Given the description of an element on the screen output the (x, y) to click on. 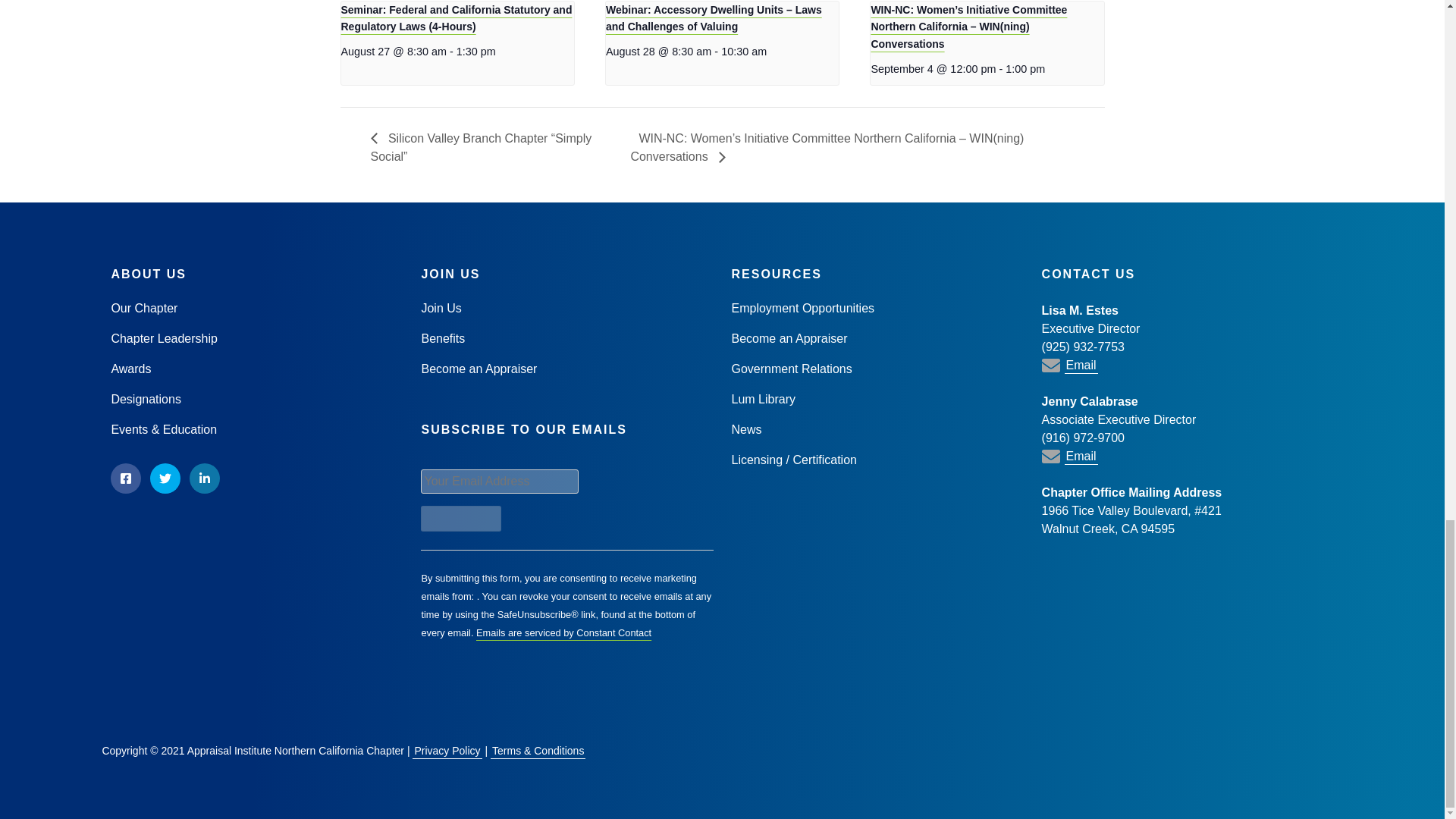
Norcal-AI Facebook (125, 478)
Norcal-AI LinkedIn (204, 478)
Subscribe (460, 518)
Norcal-AI Twitter (164, 478)
